Given the description of an element on the screen output the (x, y) to click on. 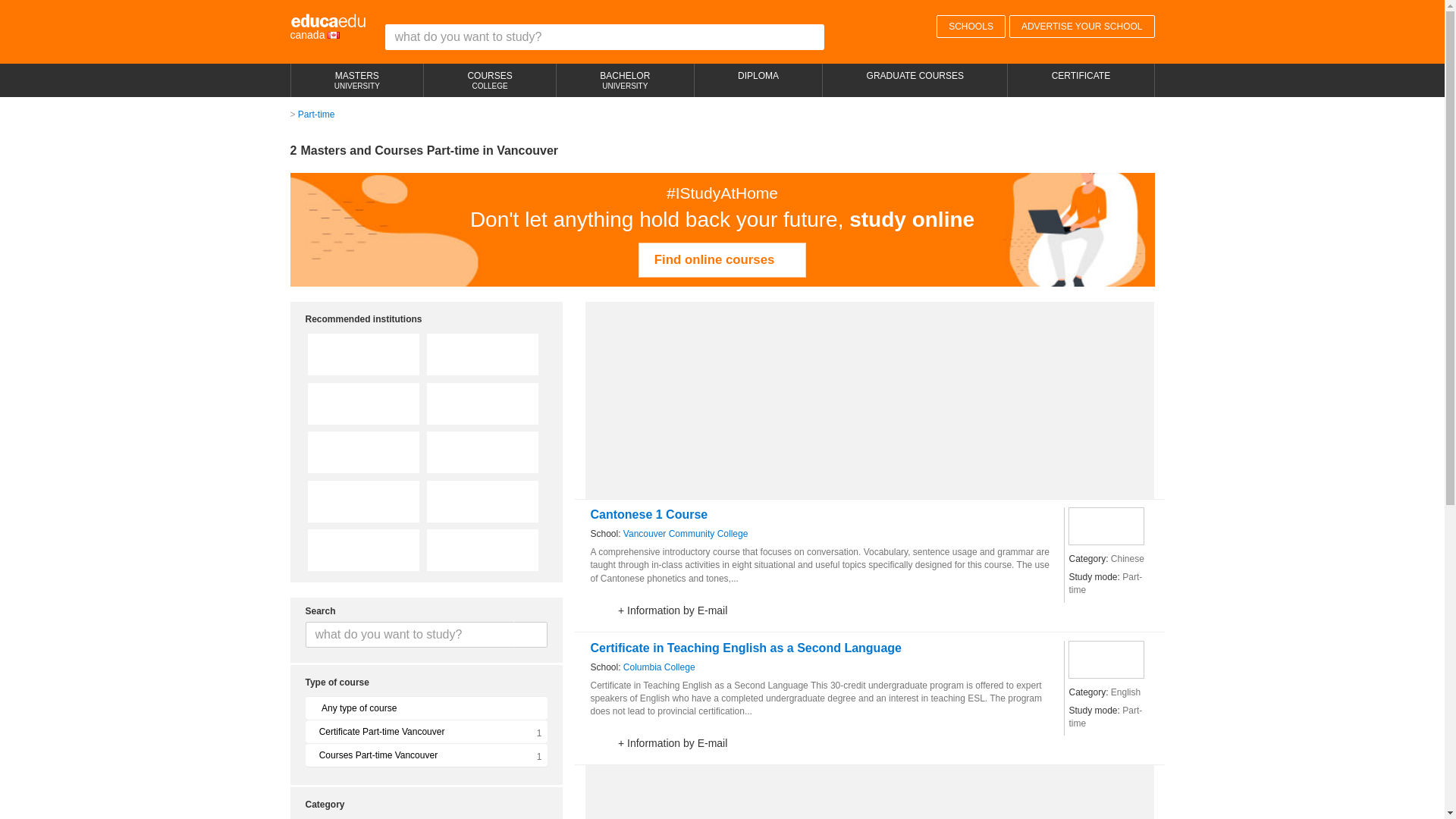
Advertise your school (1081, 26)
Vancouver Community College (685, 533)
CERTIFICATE (357, 80)
Certificate (1080, 80)
ADVERTISE YOUR SCHOOL (1080, 80)
Schools (1081, 26)
Certificate in Teaching English as a Second Language (971, 26)
Find online courses  (625, 80)
Part-time (745, 648)
Columbia College (722, 259)
Columbia College (316, 113)
Diploma (659, 667)
Graduate Courses (659, 667)
